Given the description of an element on the screen output the (x, y) to click on. 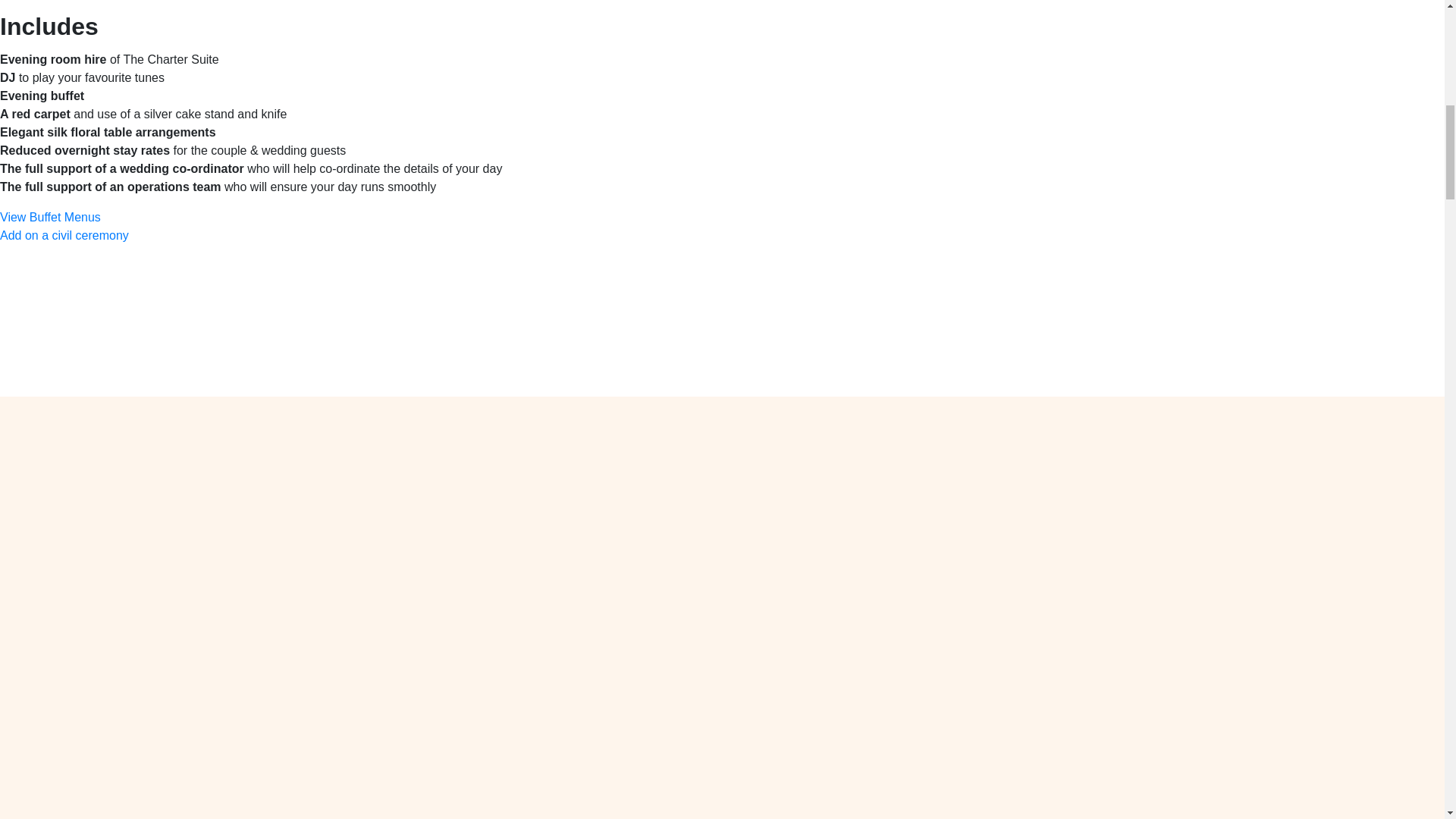
Add on a civil ceremony (64, 235)
View Buffet Menus (50, 216)
